Given the description of an element on the screen output the (x, y) to click on. 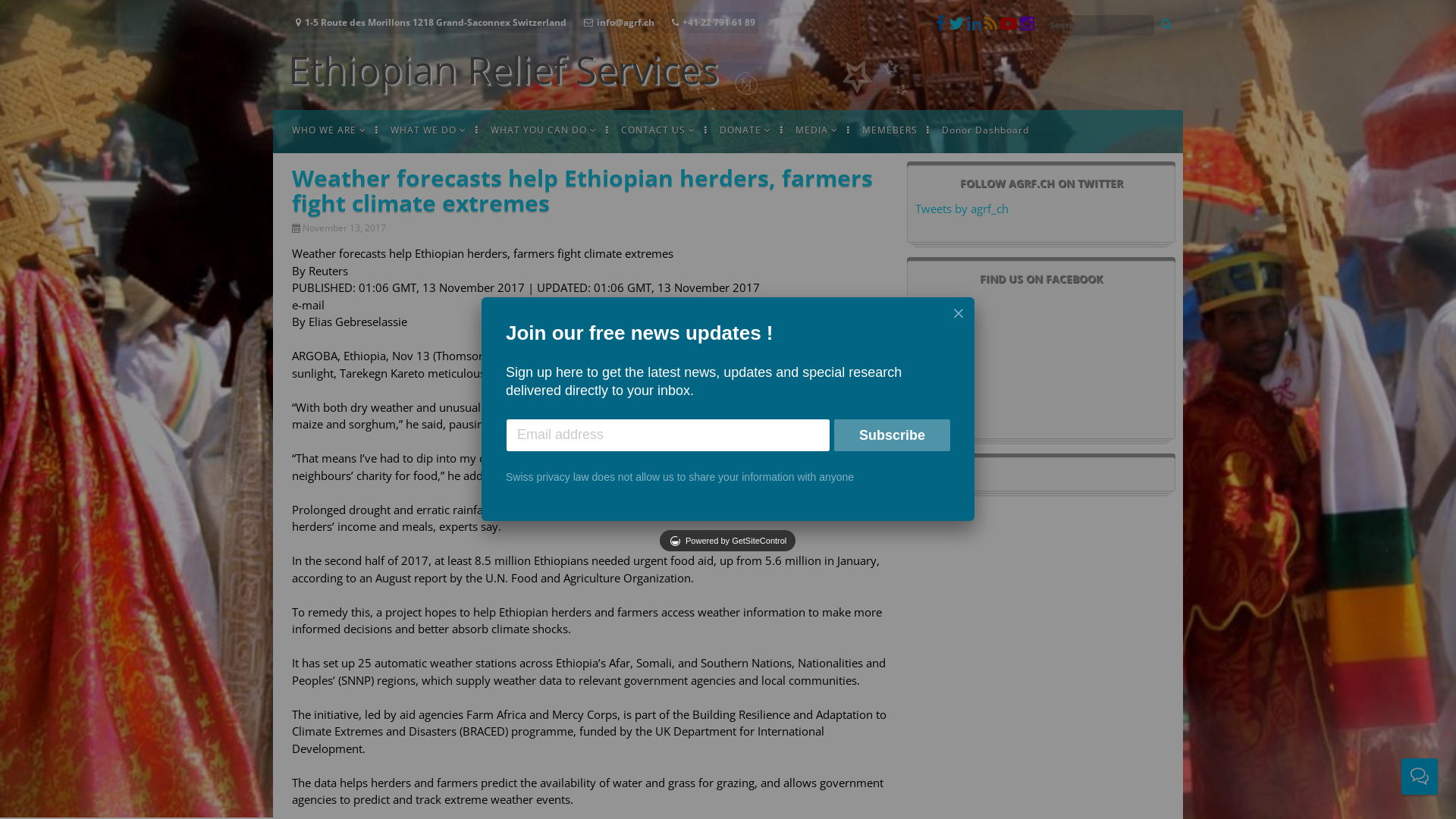
 Linkedin Element type: hover (975, 24)
Subscribe Element type: text (892, 435)
Ethiopian Relief Services Element type: text (503, 69)
YouTube Element type: hover (1009, 24)
CONTACT US Element type: text (657, 129)
Email Element type: hover (667, 434)
WHAT WE DO Element type: text (428, 129)
Search Element type: text (28, 13)
Facebook Element type: hover (941, 24)
info@agrf.ch Element type: text (616, 21)
news Element type: hover (992, 24)
Instagram Element type: hover (1026, 24)
November 13, 2017 Element type: text (345, 227)
MEMEBERS Element type: text (889, 129)
WHO WE ARE Element type: text (328, 129)
DONATE Element type: text (745, 129)
 Twitter Element type: hover (957, 24)
Tweets by agrf_ch Element type: text (961, 208)
Powered by GetSiteControl Element type: text (727, 540)
Donor Dashboard Element type: text (985, 129)
WHAT YOU CAN DO Element type: text (543, 129)
MEDIA Element type: text (816, 129)
1-5 Route des Morillons 1218 Grand-Saconnex Switzerland Element type: text (428, 21)
